Given the description of an element on the screen output the (x, y) to click on. 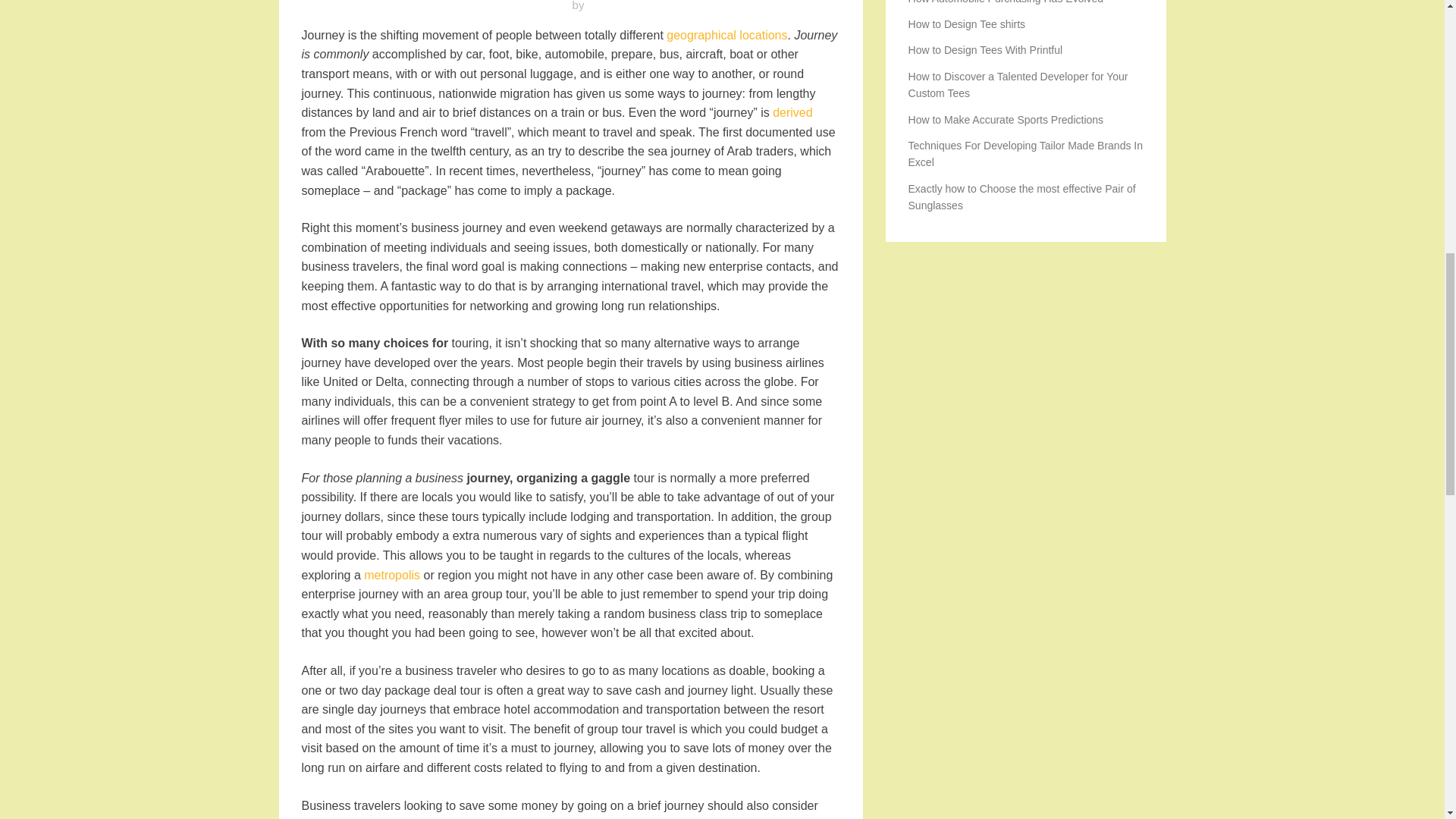
geographical locations (726, 34)
metropolis (392, 574)
How to Design Tee shirts (967, 24)
Exactly how to Choose the most effective Pair of Sunglasses (1021, 196)
How to Discover a Talented Developer for Your Custom Tees (1018, 84)
Techniques For Developing Tailor Made Brands In Excel (1025, 153)
How Automobile Purchasing Has Evolved (1005, 2)
derived (792, 112)
How to Make Accurate Sports Predictions (1005, 119)
How to Design Tees With Printful (985, 50)
